Given the description of an element on the screen output the (x, y) to click on. 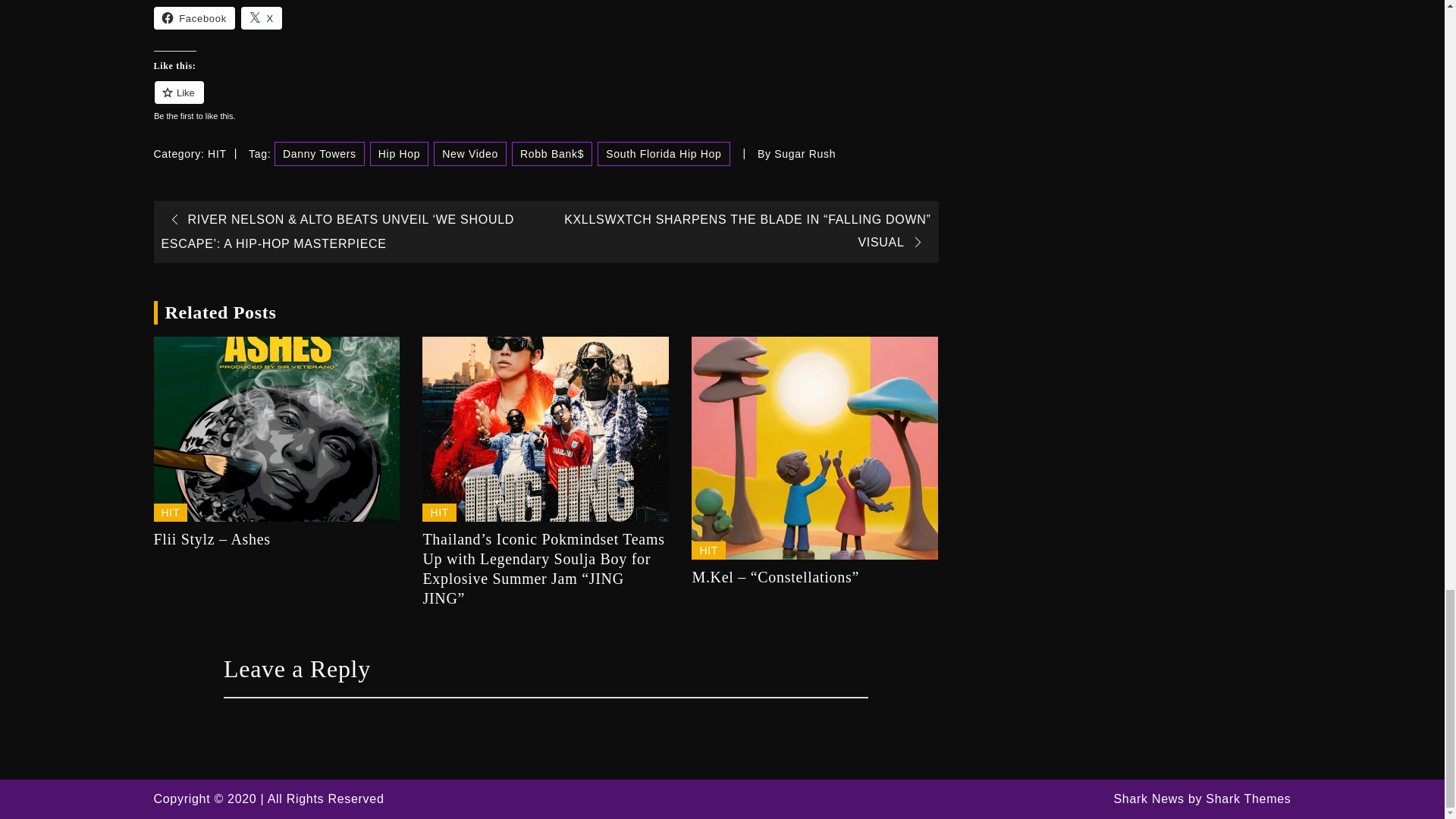
X (261, 17)
South Florida Hip Hop (662, 153)
Sugar Rush (804, 153)
HIT (439, 512)
HIT (169, 512)
HIT (708, 550)
Click to share on Facebook (193, 17)
Click to share on X (261, 17)
Hip Hop (398, 153)
New Video (469, 153)
Facebook (193, 17)
Like or Reblog (544, 101)
HIT (217, 153)
Danny Towers (320, 153)
